Given the description of an element on the screen output the (x, y) to click on. 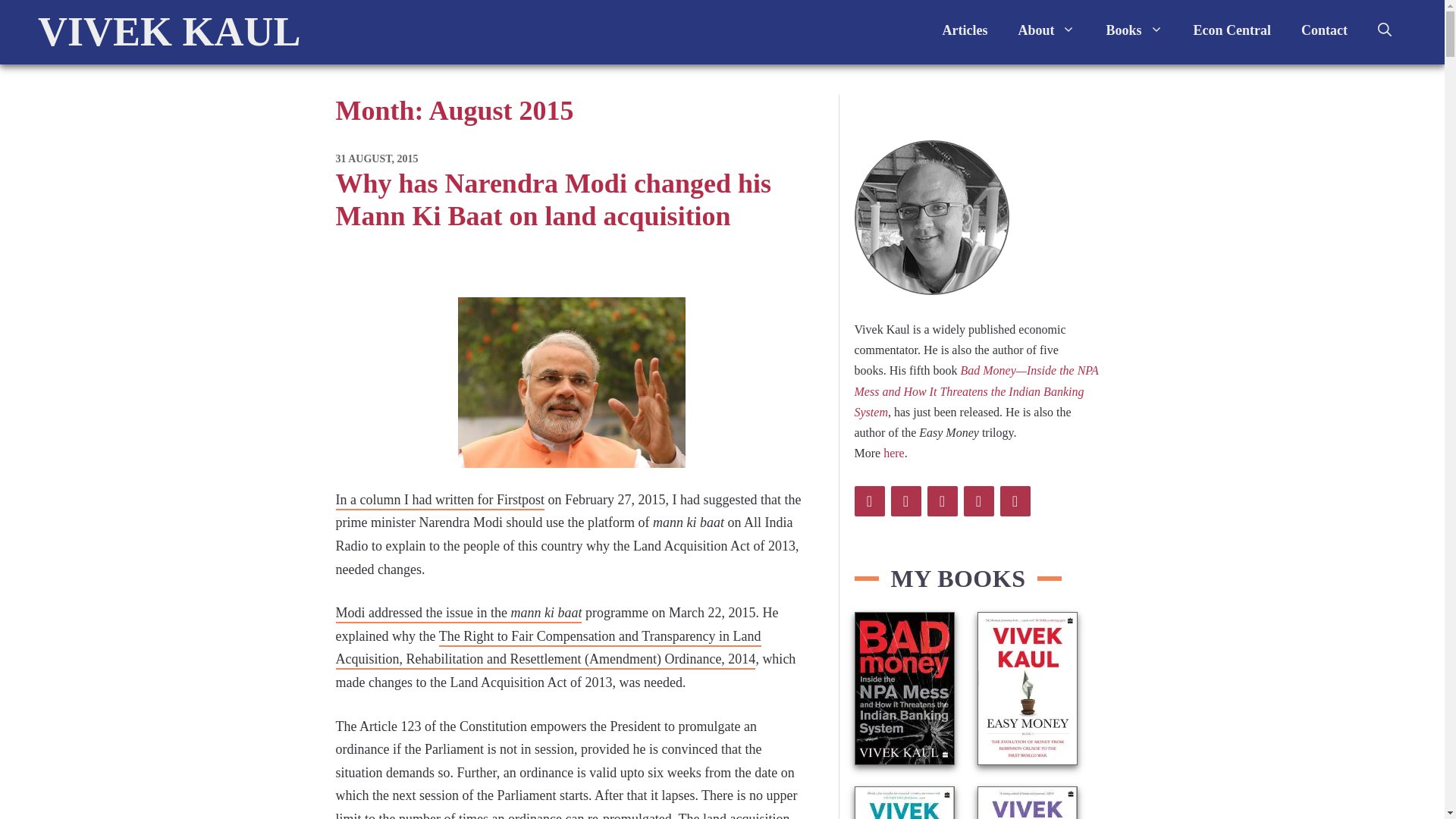
Modi addressed the issue in the mann ki baat (457, 614)
VIVEK KAUL (169, 31)
Contact (1323, 30)
Articles (964, 30)
Books (1133, 30)
Get in touch  (1323, 30)
Books written by Vivek Kaul (1133, 30)
About (1046, 30)
Econ Central (1232, 30)
